Given the description of an element on the screen output the (x, y) to click on. 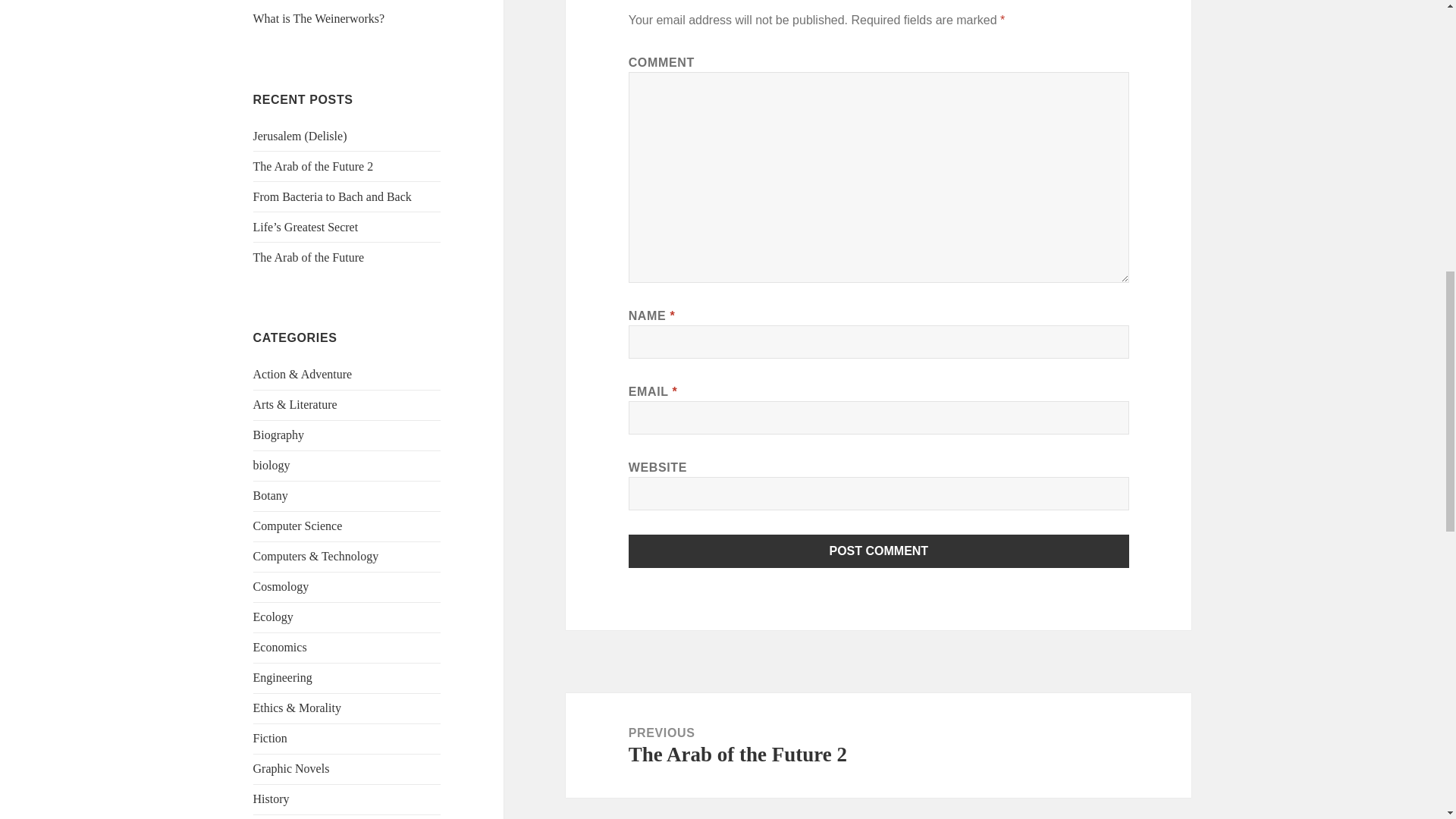
From Bacteria to Bach and Back (332, 196)
Cosmology (280, 585)
History (271, 798)
Engineering (283, 676)
Graphic Novels (291, 768)
Ecology (273, 616)
biology (271, 464)
The Arab of the Future 2 (313, 165)
What is The Weinerworks? (319, 18)
Botany (270, 495)
Economics (280, 646)
Post Comment (878, 551)
The Arab of the Future (309, 256)
Fiction (269, 738)
Computer Science (297, 525)
